Given the description of an element on the screen output the (x, y) to click on. 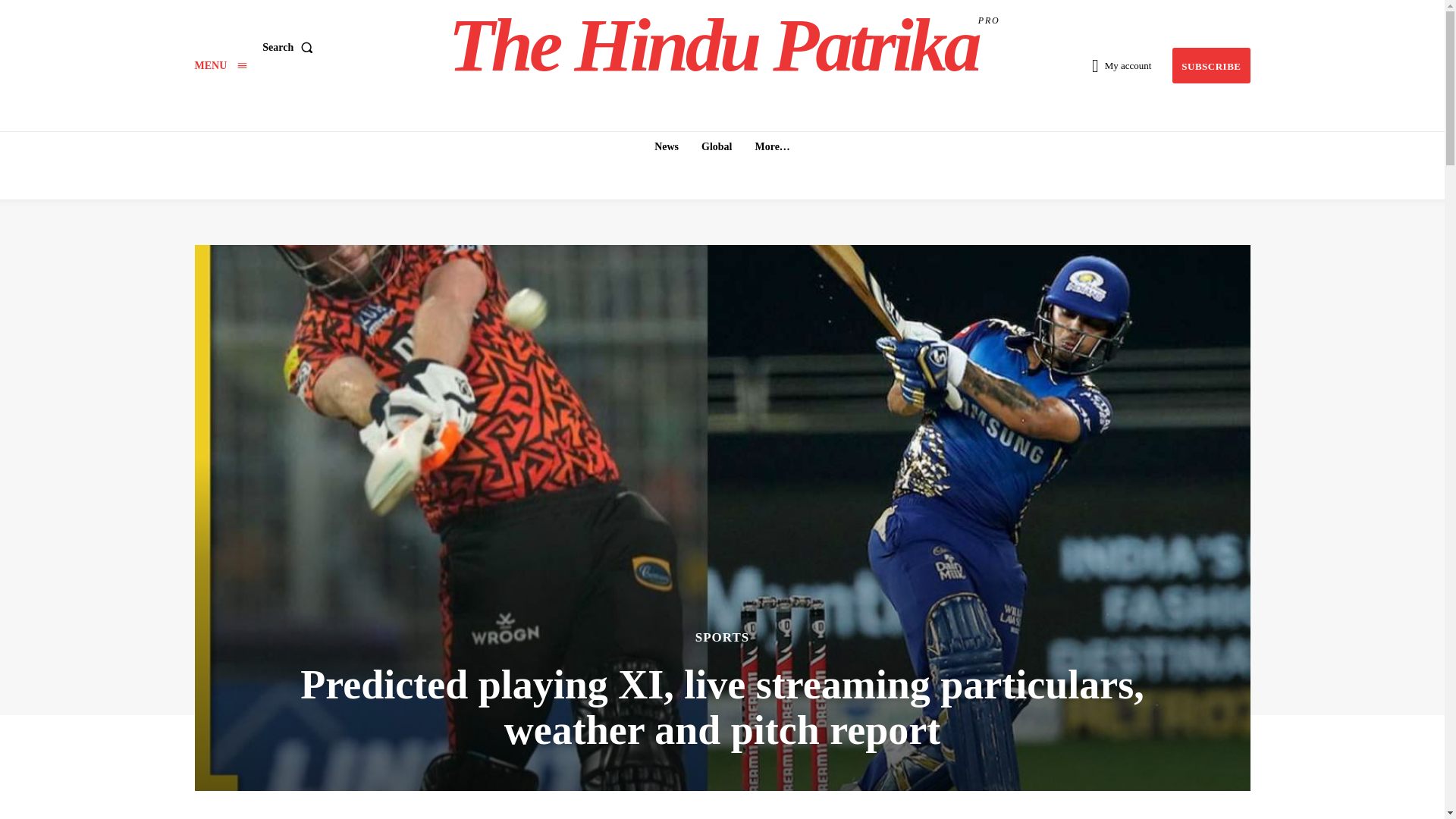
Search (290, 47)
News (665, 146)
SUBSCRIBE (724, 45)
Global (1210, 65)
Menu (716, 146)
Subscribe (220, 65)
MENU (1210, 65)
SPORTS (220, 65)
